Given the description of an element on the screen output the (x, y) to click on. 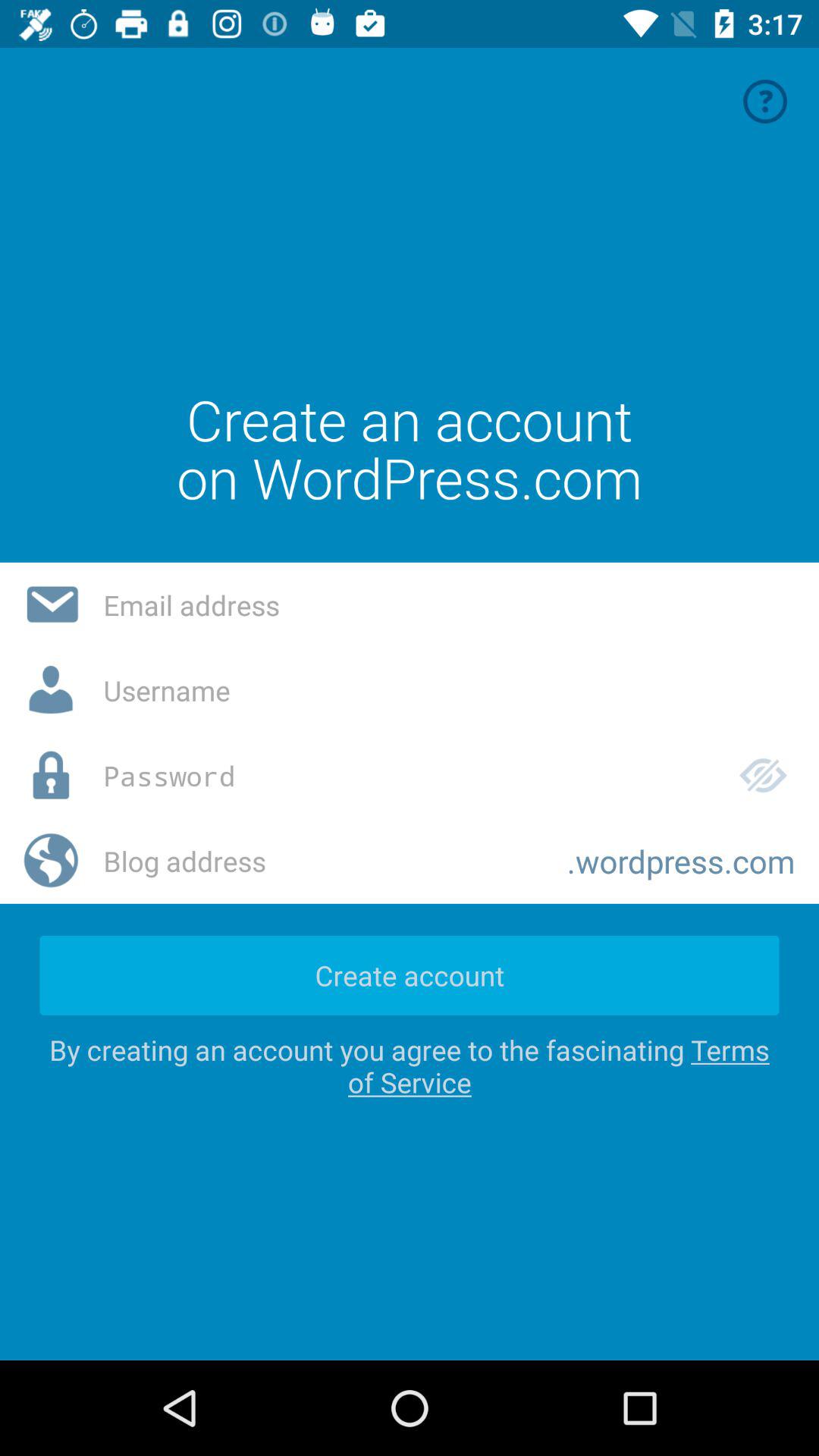
choose icon below the create an account (449, 604)
